Given the description of an element on the screen output the (x, y) to click on. 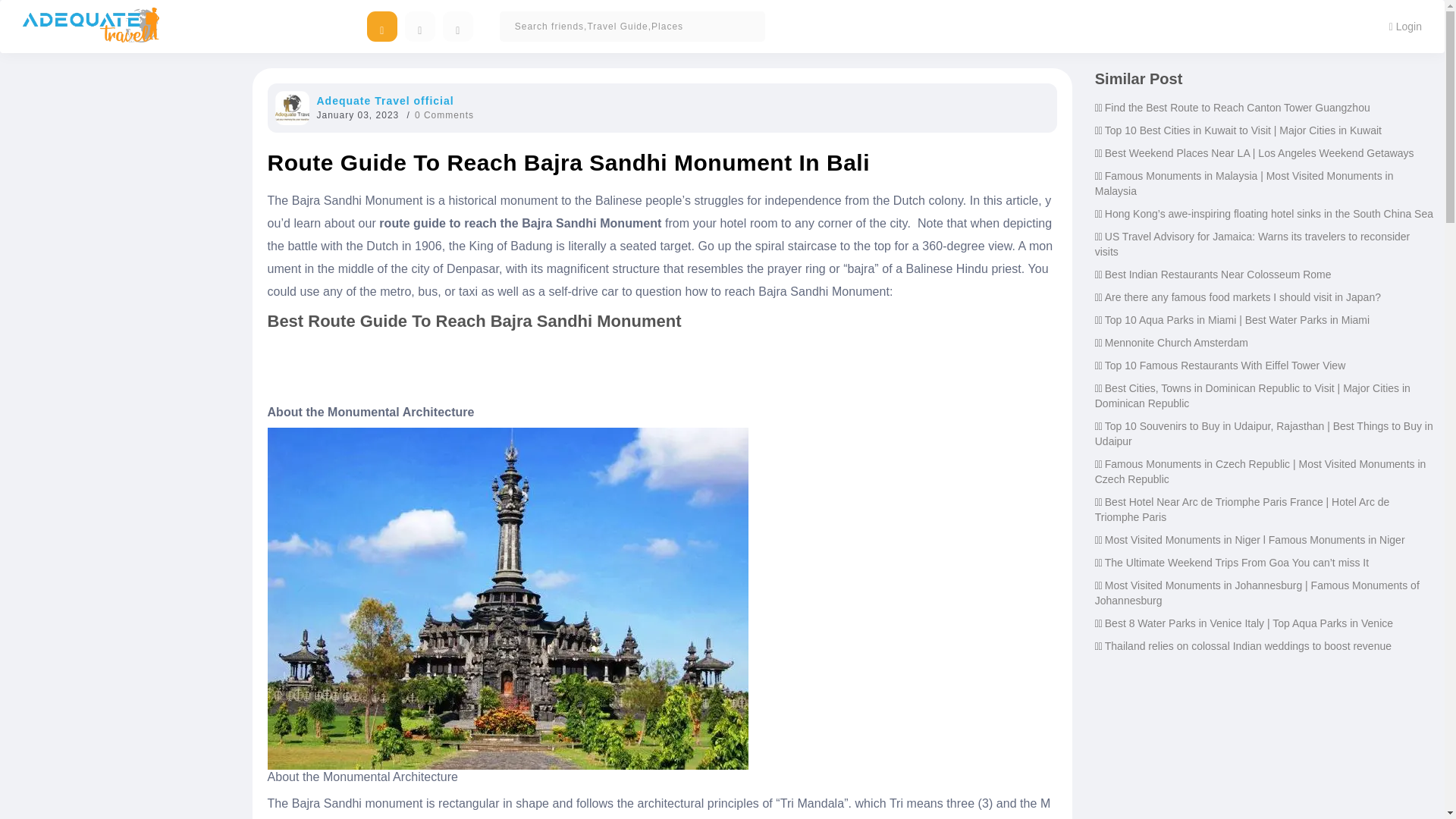
0 Comments (444, 114)
Mennonite Church Amsterdam (1176, 342)
Most Visited Monuments in Niger l Famous Monuments in Niger (1255, 539)
Are there any famous food markets I should visit in Japan? (1242, 297)
Top 10 Famous Restaurants With Eiffel Tower View (1225, 365)
Best Indian Restaurants Near Colosseum Rome (1218, 274)
Thailand relies on colossal Indian weddings to boost revenue (1248, 645)
Find the Best Route to Reach Canton Tower Guangzhou (1237, 107)
Login (1404, 26)
